Given the description of an element on the screen output the (x, y) to click on. 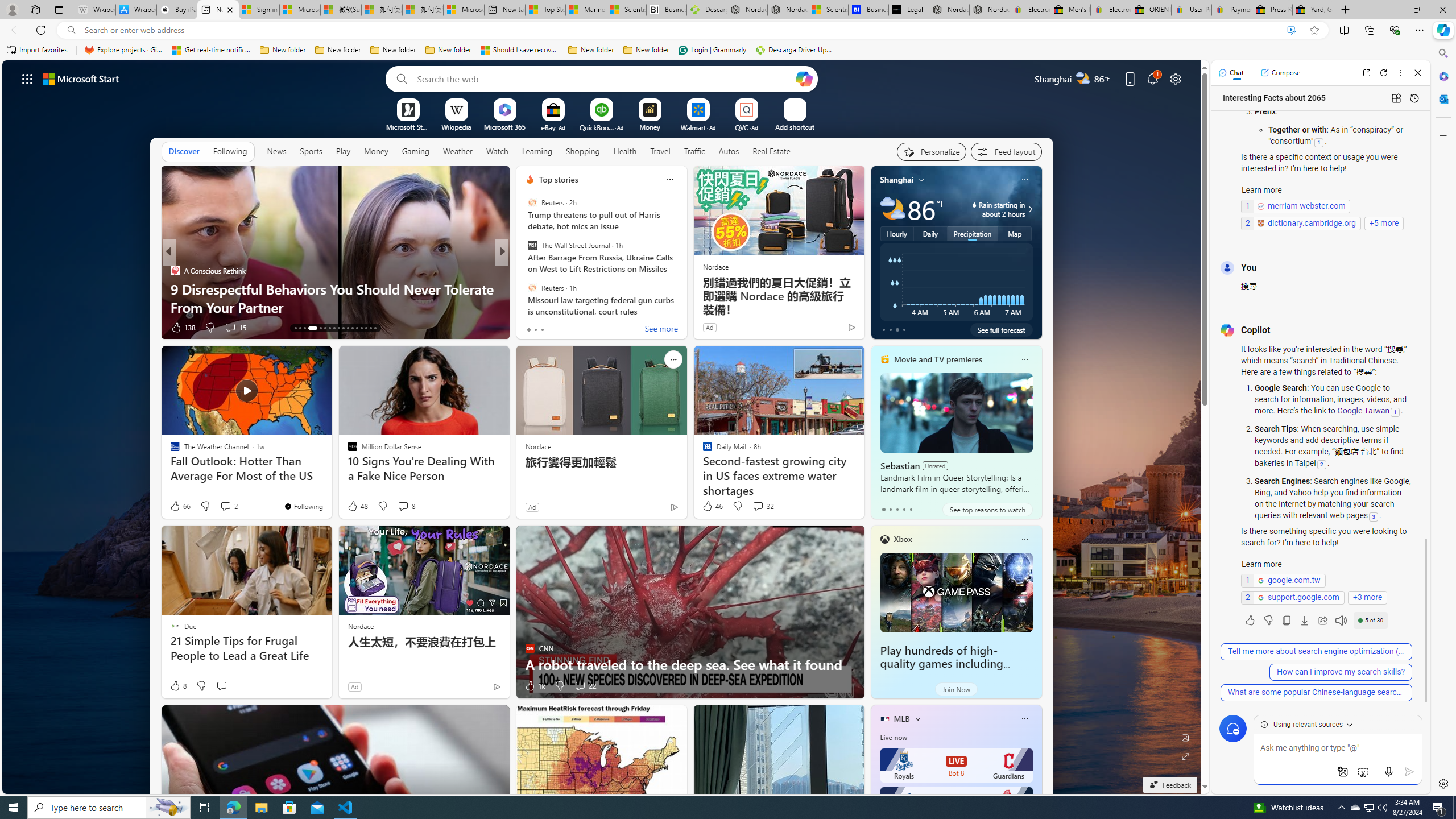
Rain starting in about 2 hours (1028, 208)
View comments 2 Comment (228, 505)
The Amazing Times (524, 270)
AutomationID: tab-37 (374, 328)
Royals LIVE Bot 8 Guardians (955, 765)
Movie and TV premieres (937, 359)
Money Digest (524, 270)
